Given the description of an element on the screen output the (x, y) to click on. 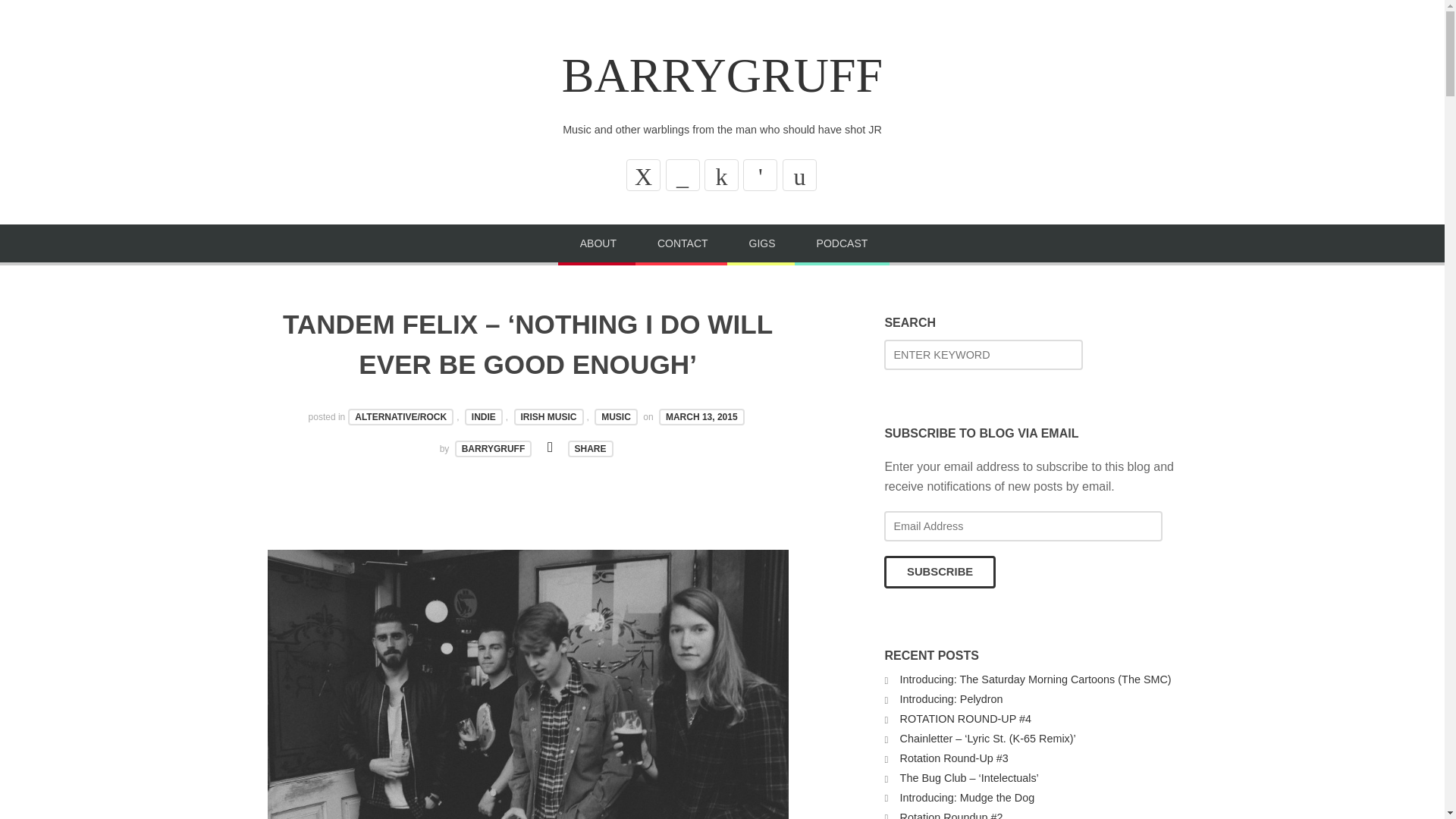
PODCAST (841, 244)
BARRYGRUFF (493, 448)
MUSIC (615, 416)
BARRYGRUFF (722, 75)
ABOUT (598, 244)
CONTACT (682, 244)
u (799, 174)
X (643, 174)
View all posts by BarryGruff (493, 448)
k (721, 174)
GIGS (761, 244)
IRISH MUSIC (548, 416)
8:11 am (701, 416)
INDIE (483, 416)
MARCH 13, 2015 (701, 416)
